Given the description of an element on the screen output the (x, y) to click on. 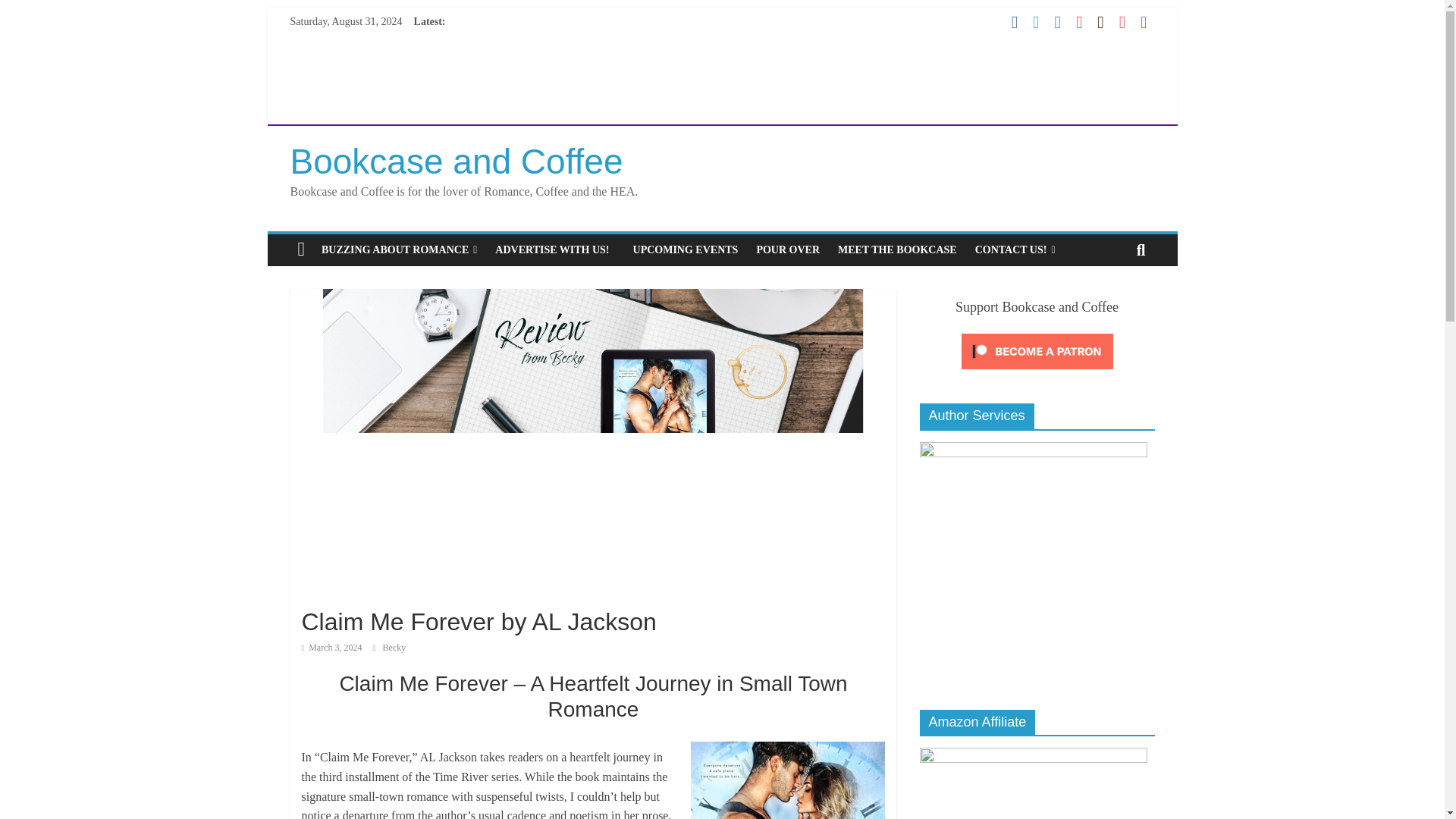
Becky (394, 647)
MEET THE BOOKCASE (897, 250)
POUR OVER (787, 250)
BUZZING ABOUT ROMANCE (399, 250)
Becky (394, 647)
Bookcase and Coffee (456, 160)
Bookcase and Coffee (456, 160)
UPCOMING EVENTS (686, 250)
ADVERTISE WITH US!   (554, 250)
